Given the description of an element on the screen output the (x, y) to click on. 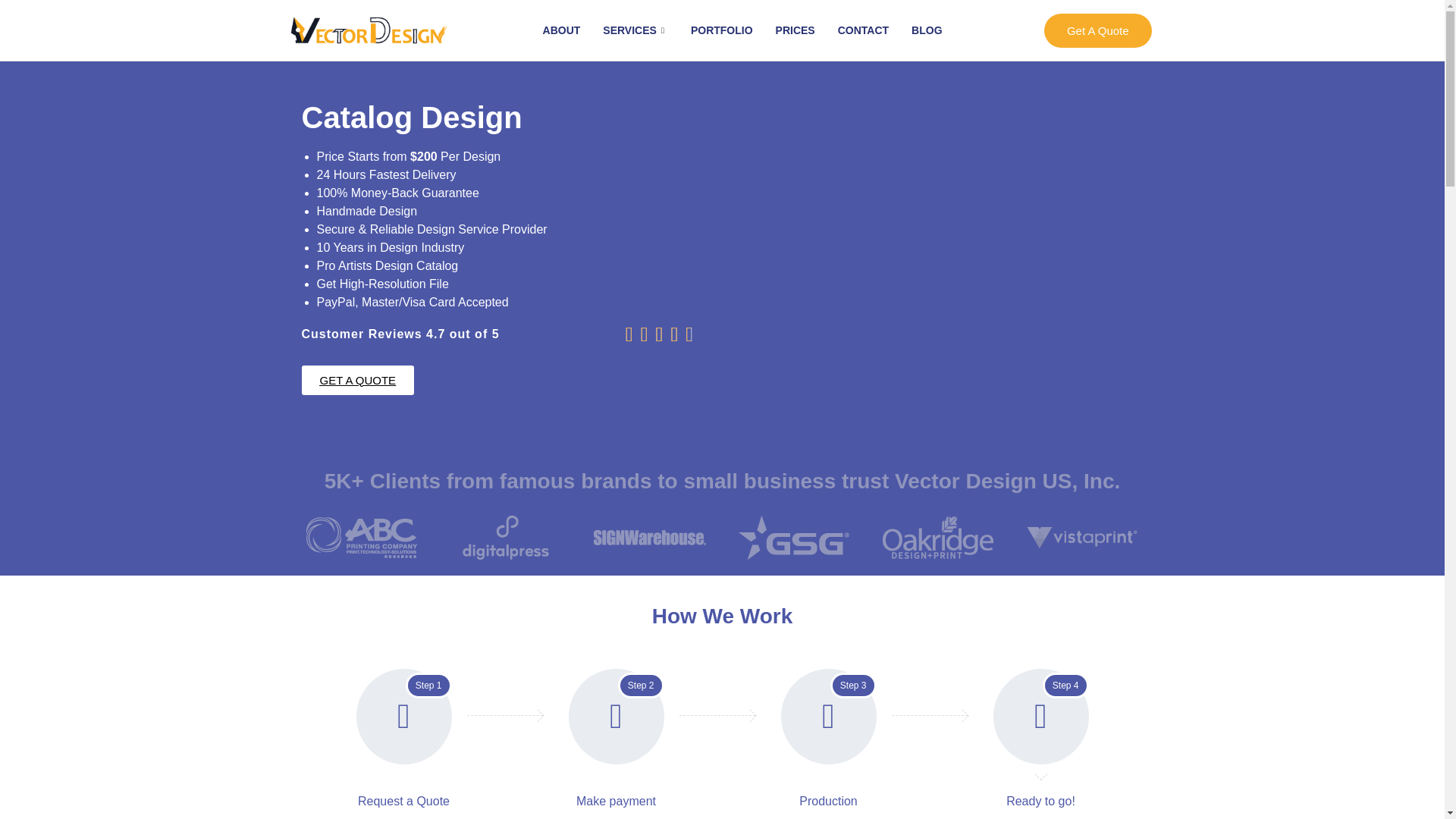
SERVICES (635, 30)
ABOUT (561, 30)
